Given the description of an element on the screen output the (x, y) to click on. 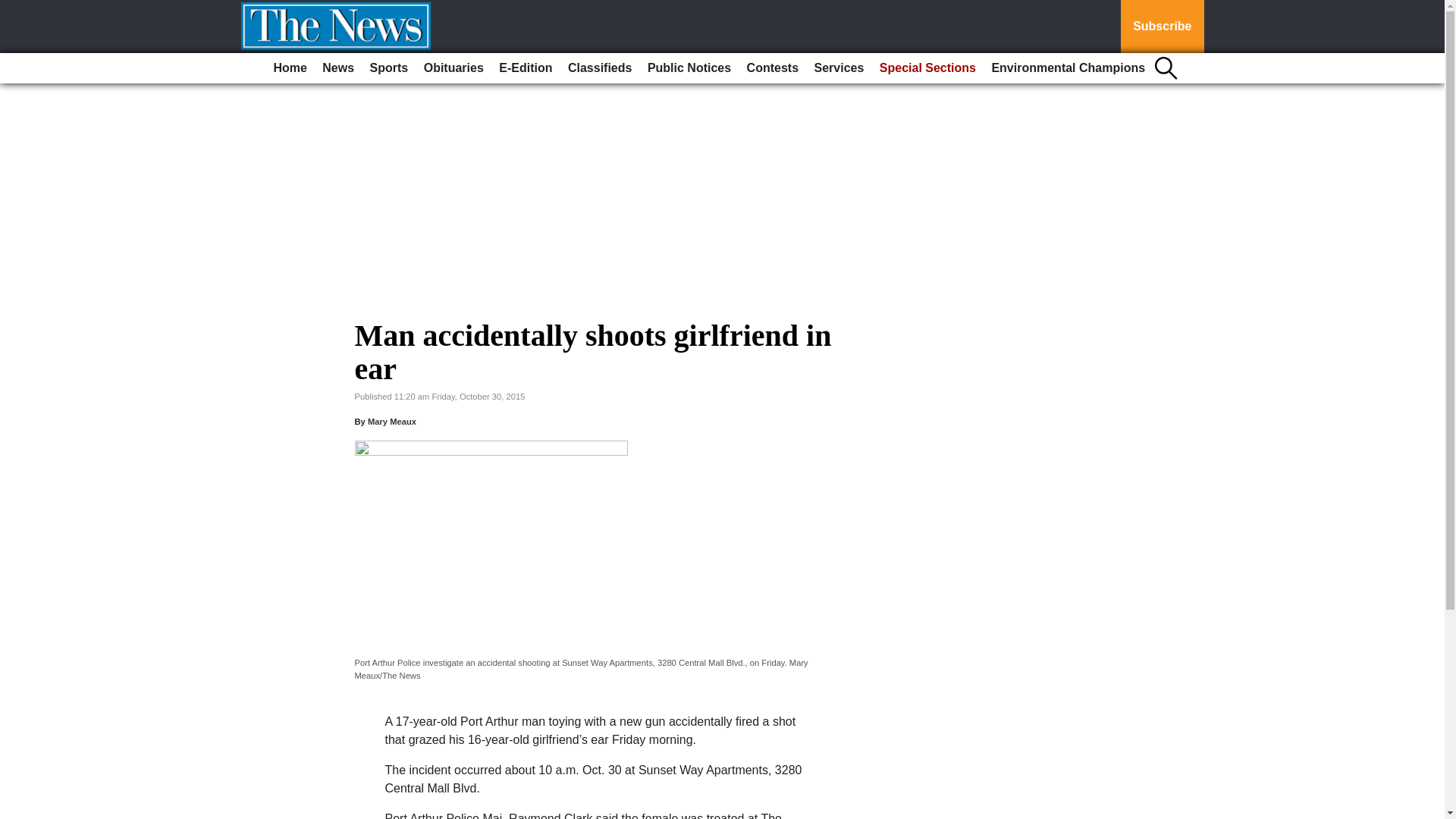
Sports (389, 68)
Obituaries (453, 68)
Services (839, 68)
Special Sections (927, 68)
Subscribe (1162, 26)
Public Notices (689, 68)
Mary Meaux (392, 420)
Environmental Champions (1068, 68)
E-Edition (525, 68)
News (337, 68)
Classifieds (599, 68)
Home (289, 68)
Go (13, 9)
Contests (773, 68)
